Given the description of an element on the screen output the (x, y) to click on. 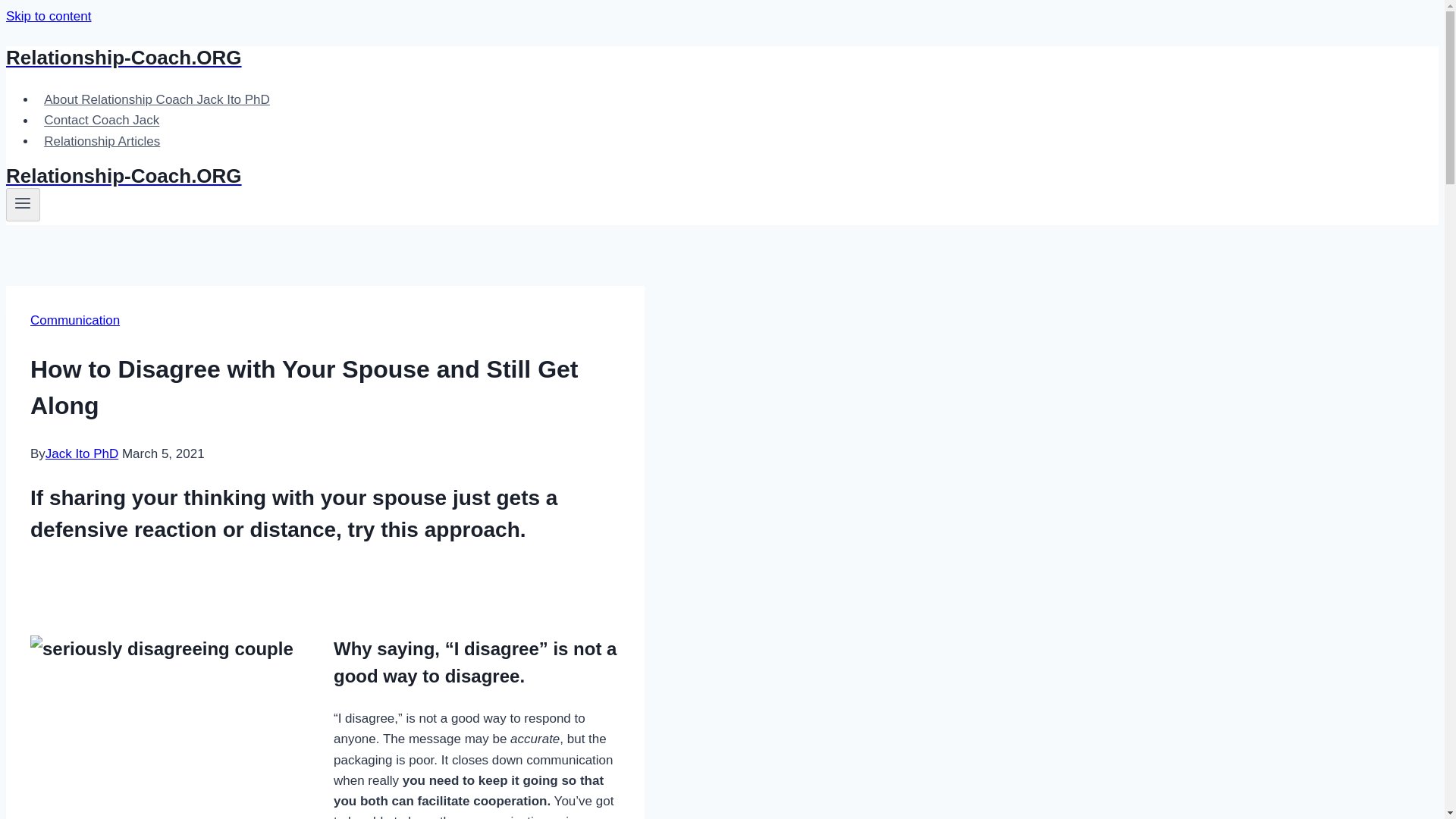
Skip to content (47, 16)
Relationship-Coach.ORG (494, 176)
Relationship Articles (101, 141)
Jack Ito PhD (81, 453)
Relationship-Coach.ORG (494, 57)
Toggle Menu (22, 204)
Skip to content (47, 16)
About Relationship Coach Jack Ito PhD (157, 99)
Communication (74, 319)
Contact Coach Jack (101, 120)
Toggle Menu (22, 203)
